Given the description of an element on the screen output the (x, y) to click on. 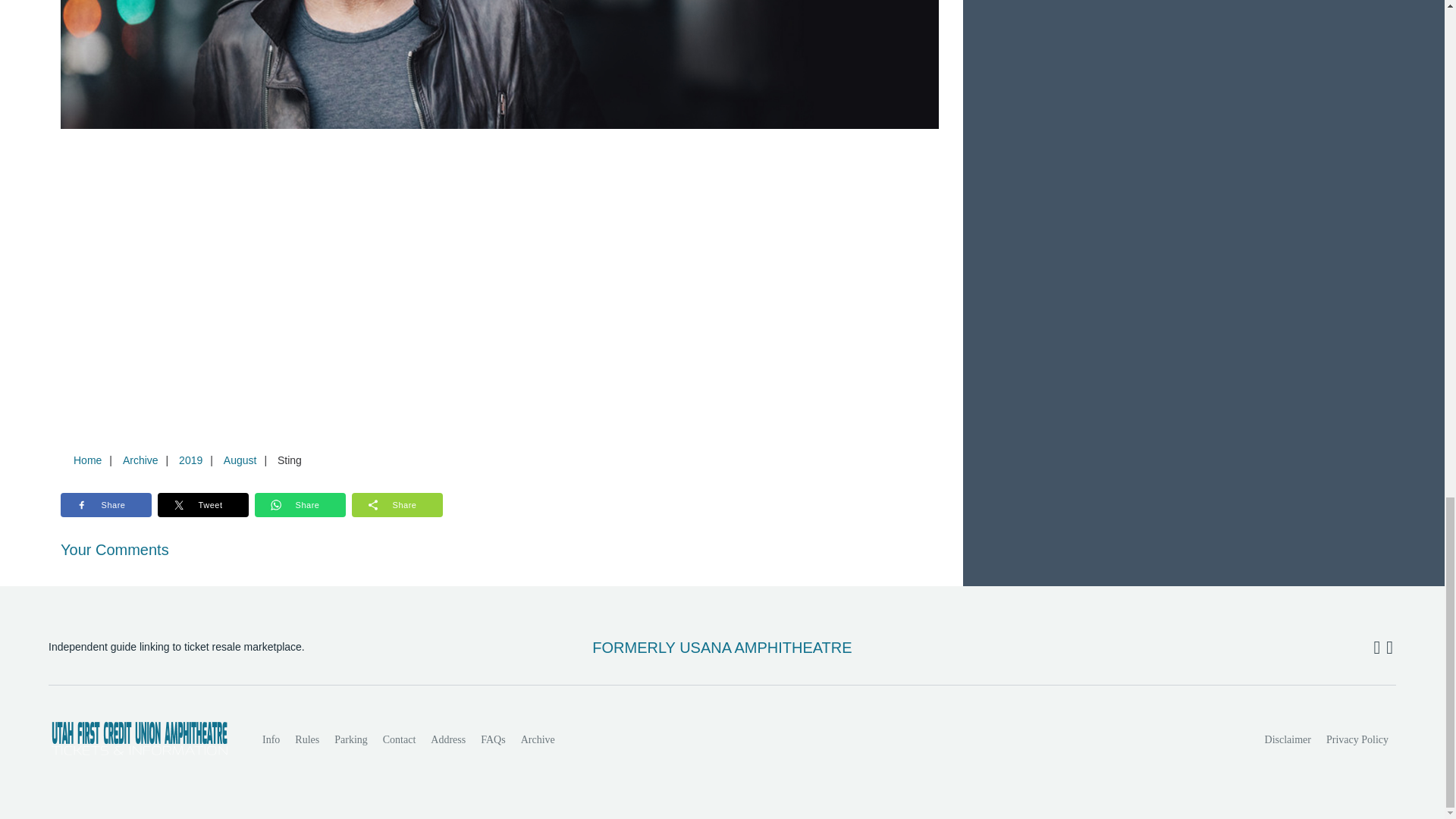
Disclaimer (1288, 739)
August (239, 460)
Info (270, 739)
Parking (350, 739)
Privacy Policy (1357, 739)
Home (87, 460)
Sting at USANA Amphitheater tickets (500, 64)
FAQs (492, 739)
Archive (140, 460)
Rules (306, 739)
Archive (537, 739)
Address (448, 739)
2019 (190, 460)
Contact (399, 739)
